Given the description of an element on the screen output the (x, y) to click on. 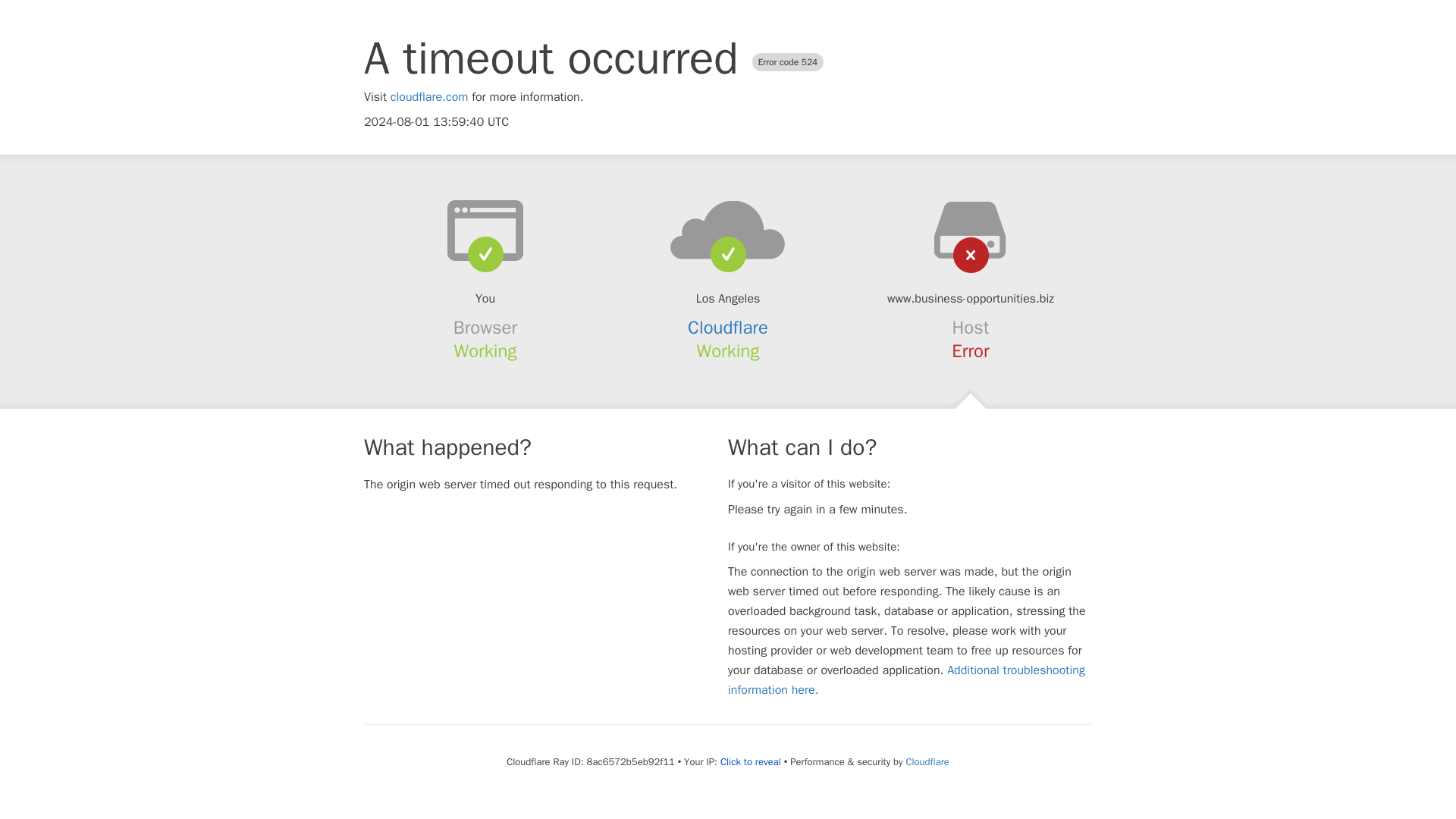
cloudflare.com (429, 96)
Additional troubleshooting information here. (906, 679)
Cloudflare (727, 327)
Click to reveal (750, 762)
Cloudflare (927, 761)
